Given the description of an element on the screen output the (x, y) to click on. 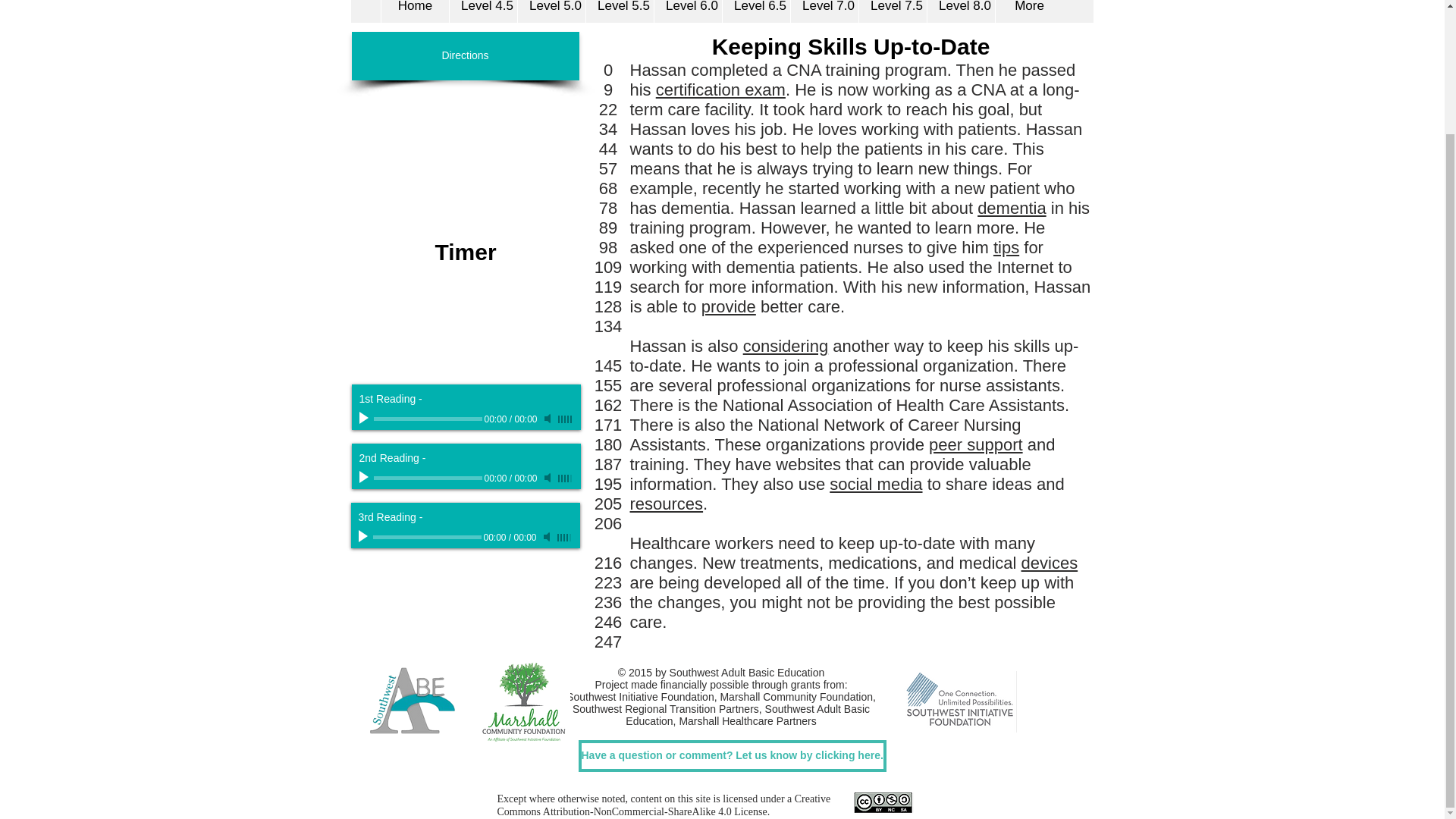
Level 6.5 (756, 11)
Level 5.0 (550, 11)
Level 7.0 (824, 11)
CC License.PNG (883, 803)
Level 7.5 (892, 11)
0 (426, 477)
Level 4.5 (482, 11)
Have a question or comment? Let us know by clicking here. (731, 756)
Directions (465, 55)
Level 8.0 (960, 11)
0 (426, 536)
0 (426, 418)
Level 5.5 (619, 11)
Level 6.0 (687, 11)
Home (414, 11)
